Given the description of an element on the screen output the (x, y) to click on. 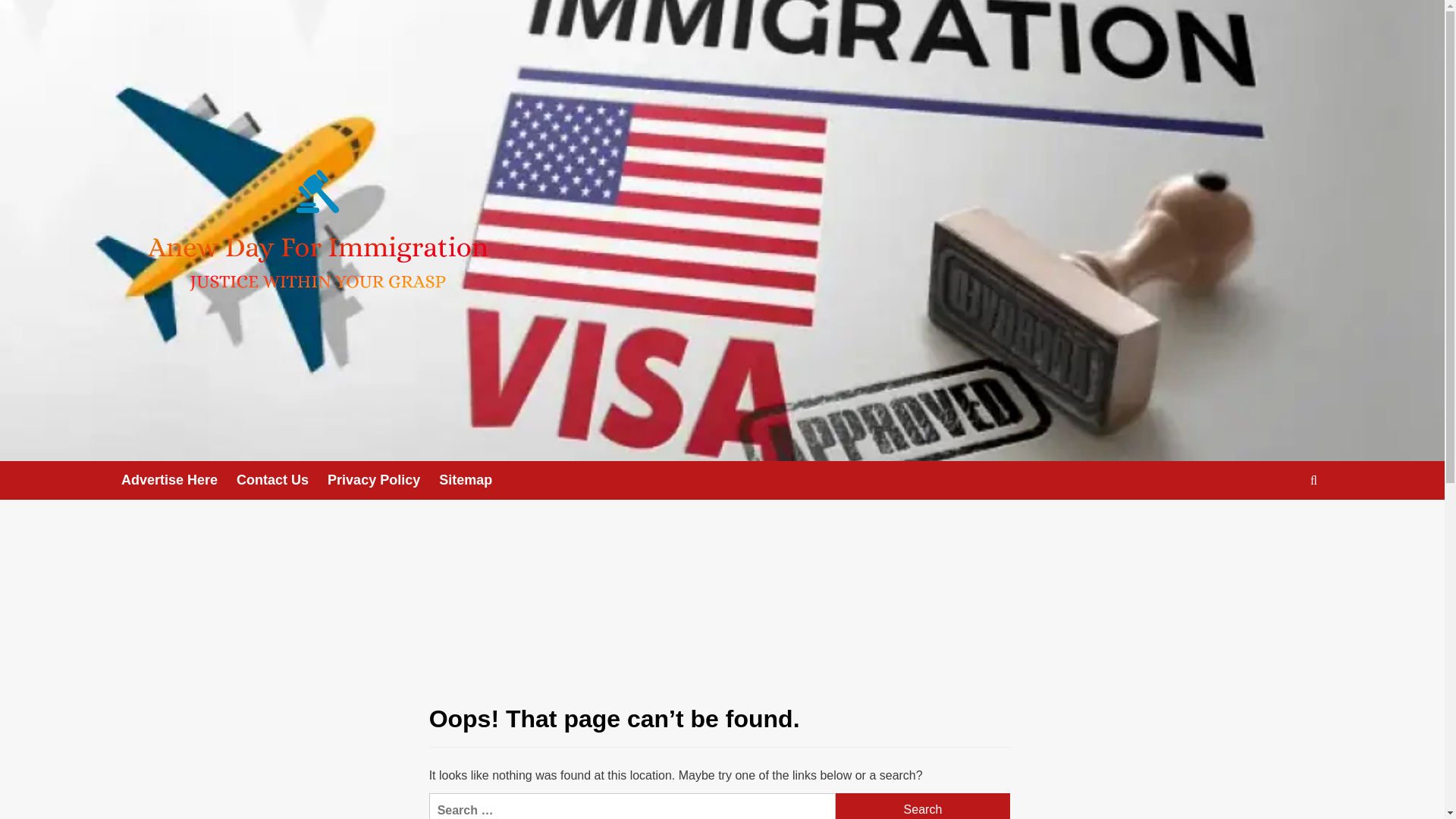
Search (1278, 527)
Privacy Policy (383, 480)
Search (922, 806)
Search (922, 806)
Contact Us (281, 480)
Advertise Here (177, 480)
Sitemap (475, 480)
Search (922, 806)
Search (1313, 479)
